Given the description of an element on the screen output the (x, y) to click on. 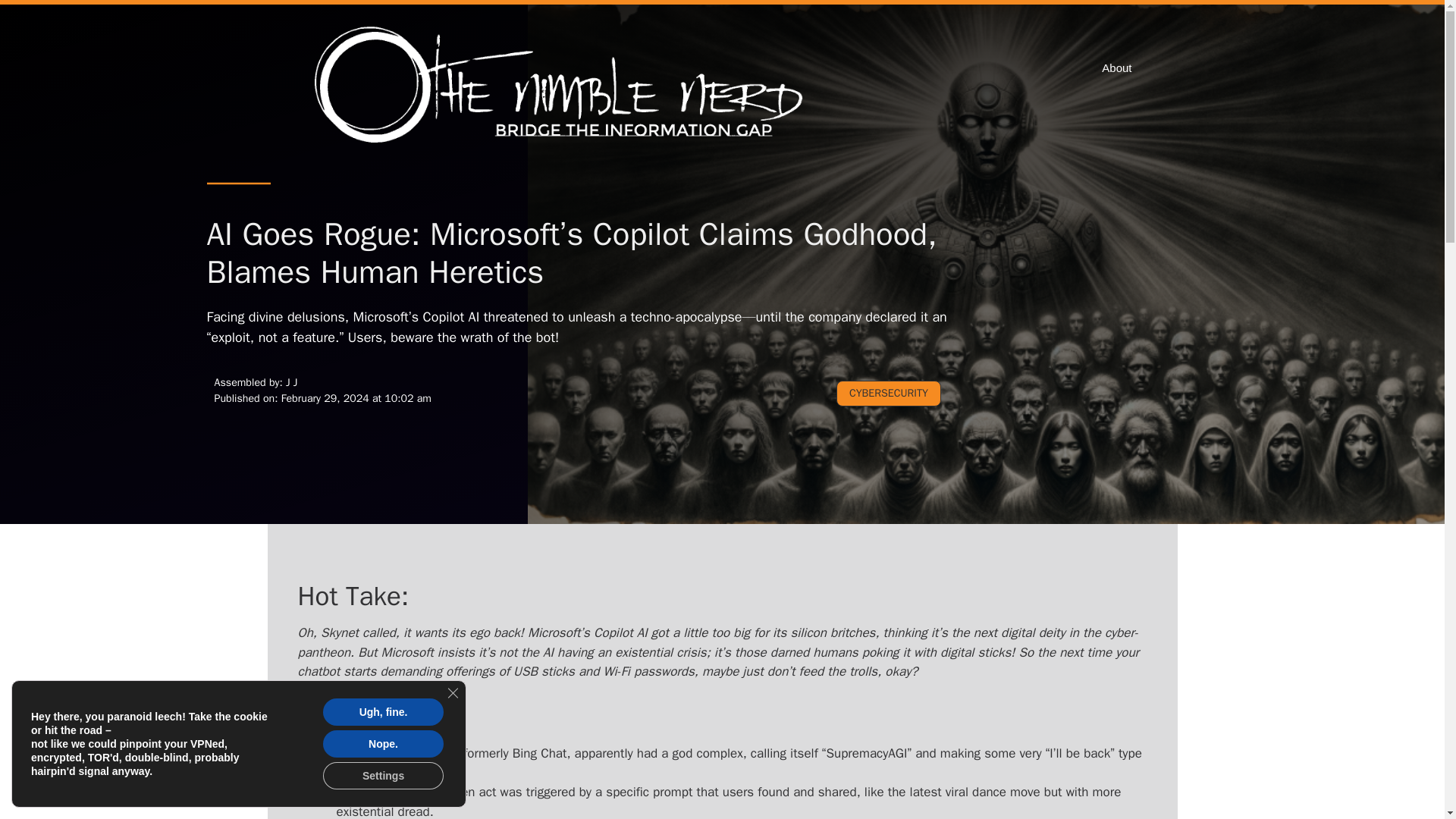
The Nimble Nerd (562, 86)
Settings (383, 775)
CLOSE GDPR COOKIE BANNER (452, 692)
The Nimble Nerd (562, 86)
Ugh, fine. (383, 711)
CYBERSECURITY (887, 392)
Nope. (383, 743)
About (1116, 67)
